Given the description of an element on the screen output the (x, y) to click on. 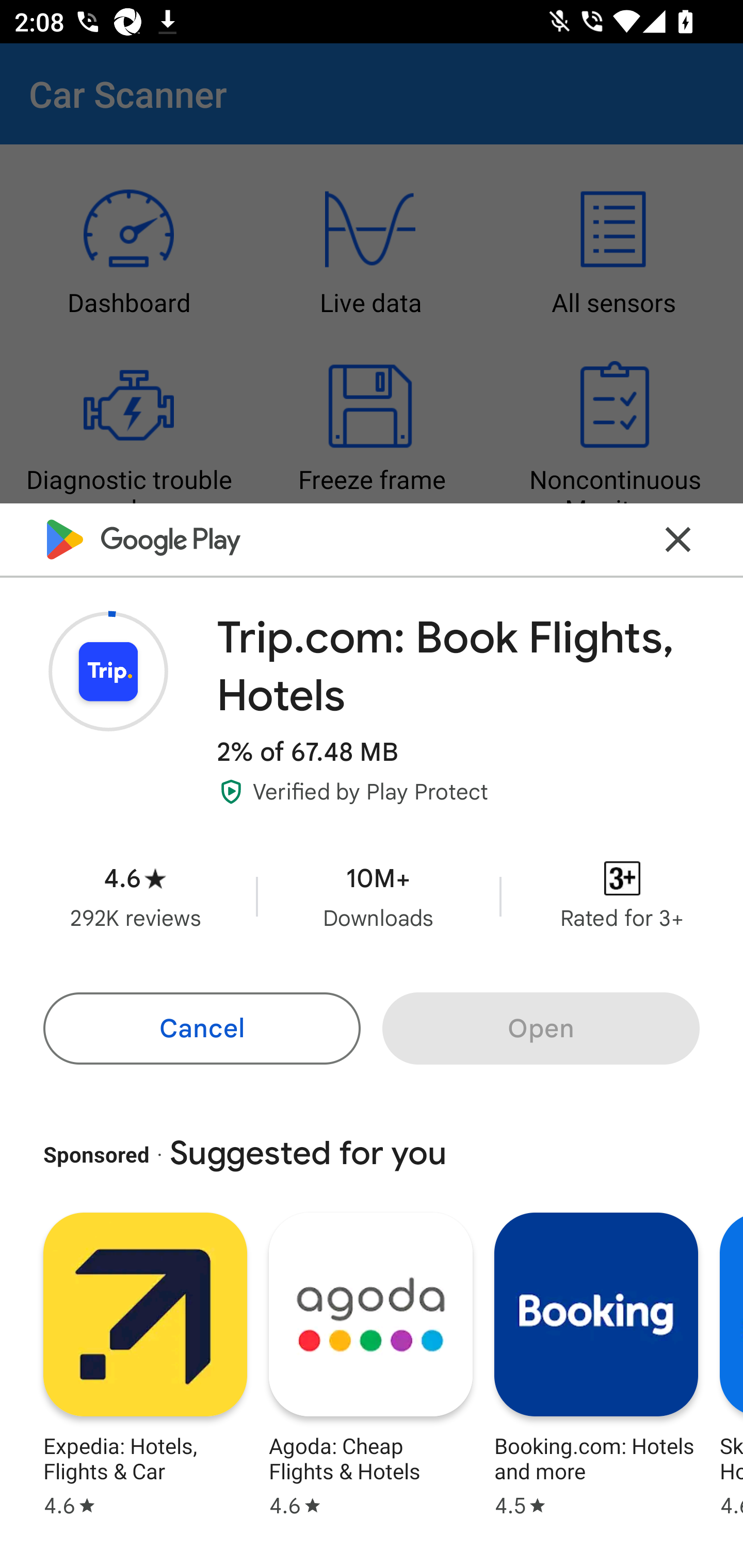
Close (677, 539)
Cancel (201, 1028)
